Given the description of an element on the screen output the (x, y) to click on. 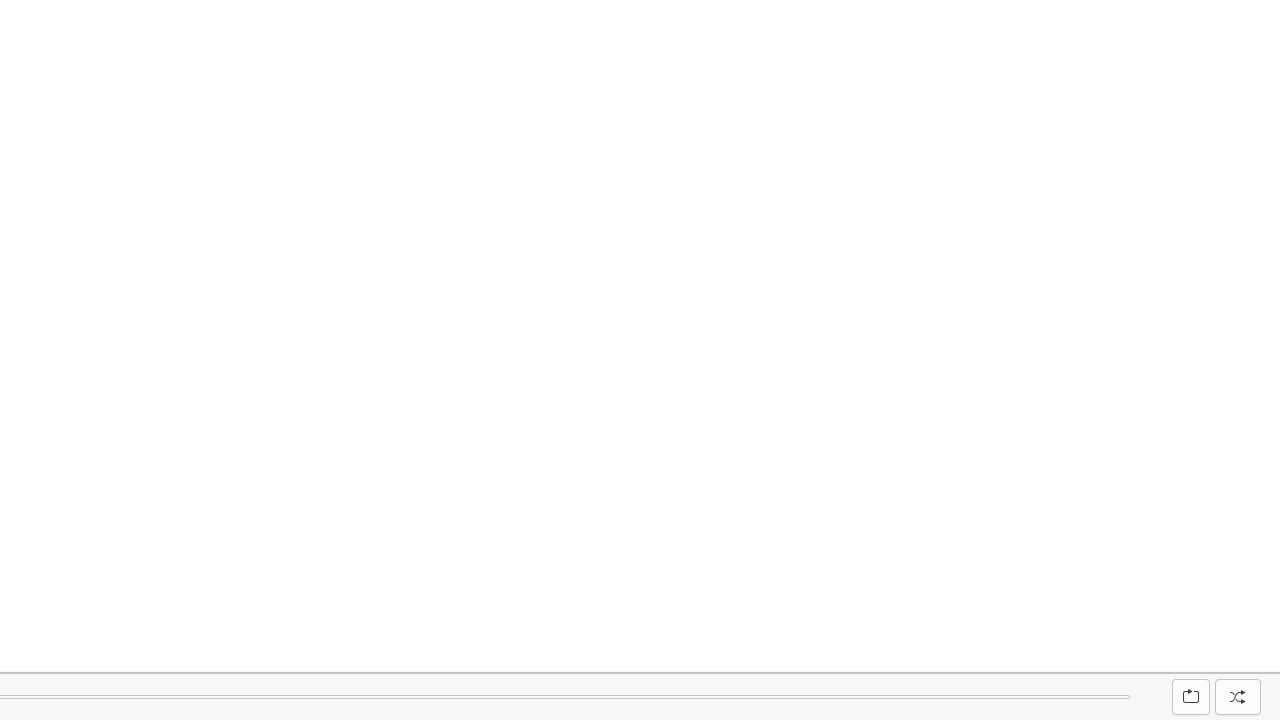
0 songs Element type: label (1239, 658)
